Given the description of an element on the screen output the (x, y) to click on. 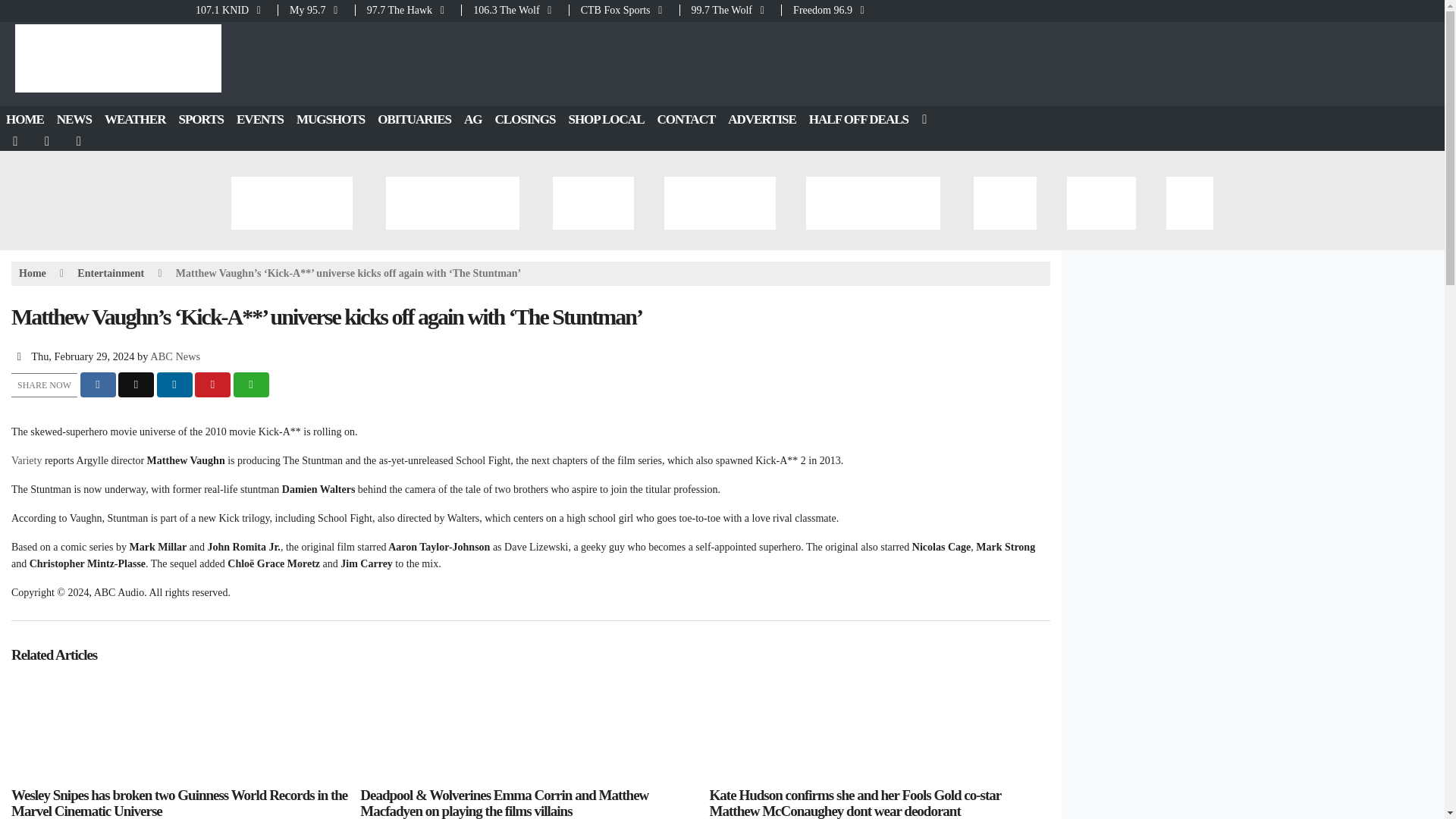
Follow us on Instagram (80, 140)
Posts by ABC News (174, 356)
Follow us on Facebook (16, 140)
107.1 KNID (235, 9)
Follow us on X (48, 140)
My 95.7 (316, 9)
Share to Facebook (98, 384)
